Given the description of an element on the screen output the (x, y) to click on. 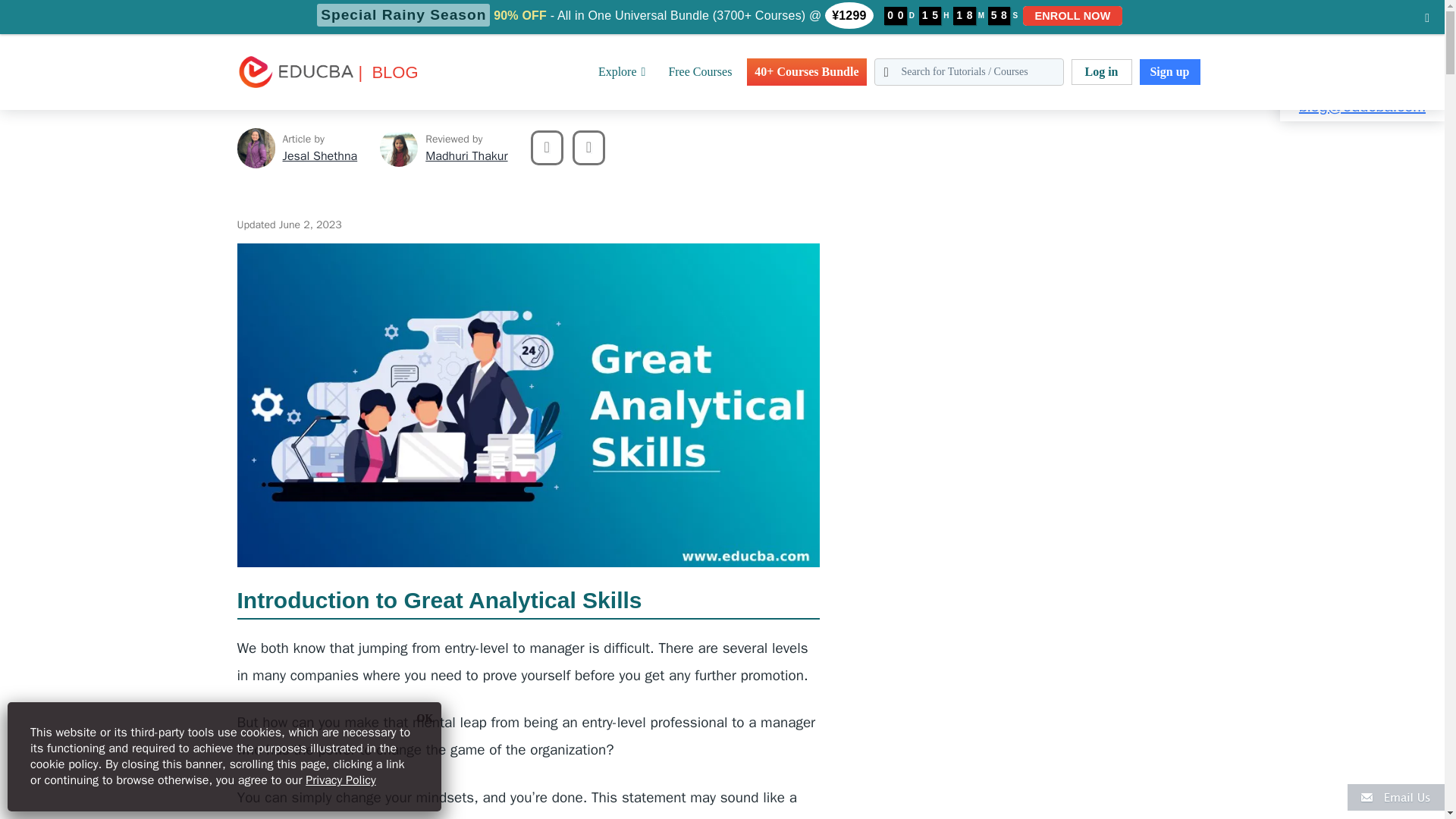
Improving Work Productivity (274, 9)
Search (43, 19)
Explore (622, 72)
Jesal Shethna (319, 155)
Previous (547, 147)
Sign up (1168, 71)
EDUCBA (259, 96)
Free Courses (700, 72)
Log in (1100, 71)
Human Learn (165, 9)
